Given the description of an element on the screen output the (x, y) to click on. 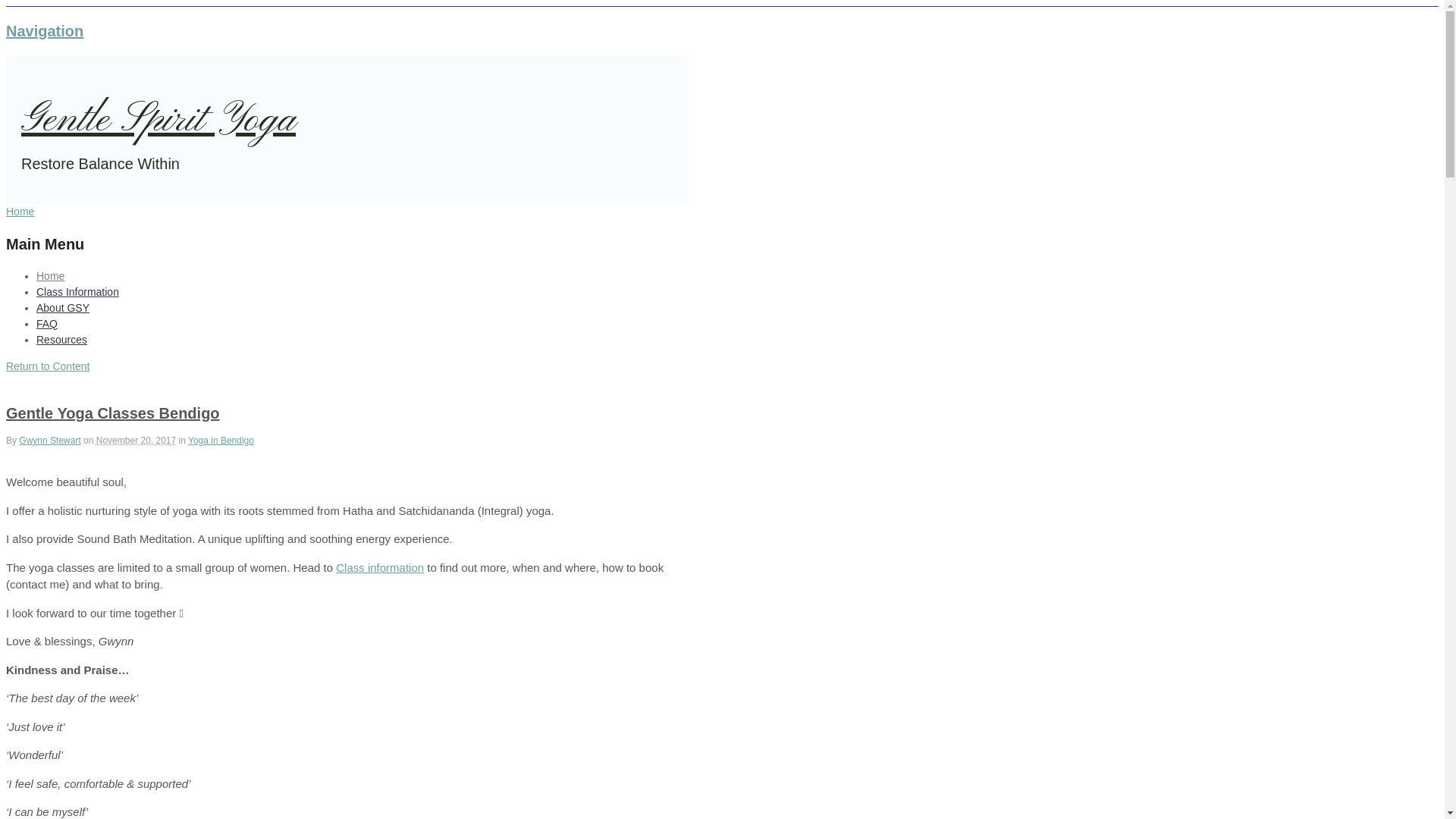
Home Element type: text (50, 275)
Resources Element type: text (61, 339)
Gentle Yoga Classes Bendigo Element type: text (112, 412)
Navigation Element type: text (44, 30)
Home Element type: text (20, 210)
Gwynn Stewart Element type: text (49, 440)
Gentle Spirit Yoga Element type: text (158, 120)
FAQ Element type: text (46, 322)
Yoga in Bendigo Element type: text (221, 440)
Return to Content Element type: text (48, 365)
About GSY Element type: text (62, 307)
Class Information Element type: text (77, 291)
Class information Element type: text (379, 567)
